Given the description of an element on the screen output the (x, y) to click on. 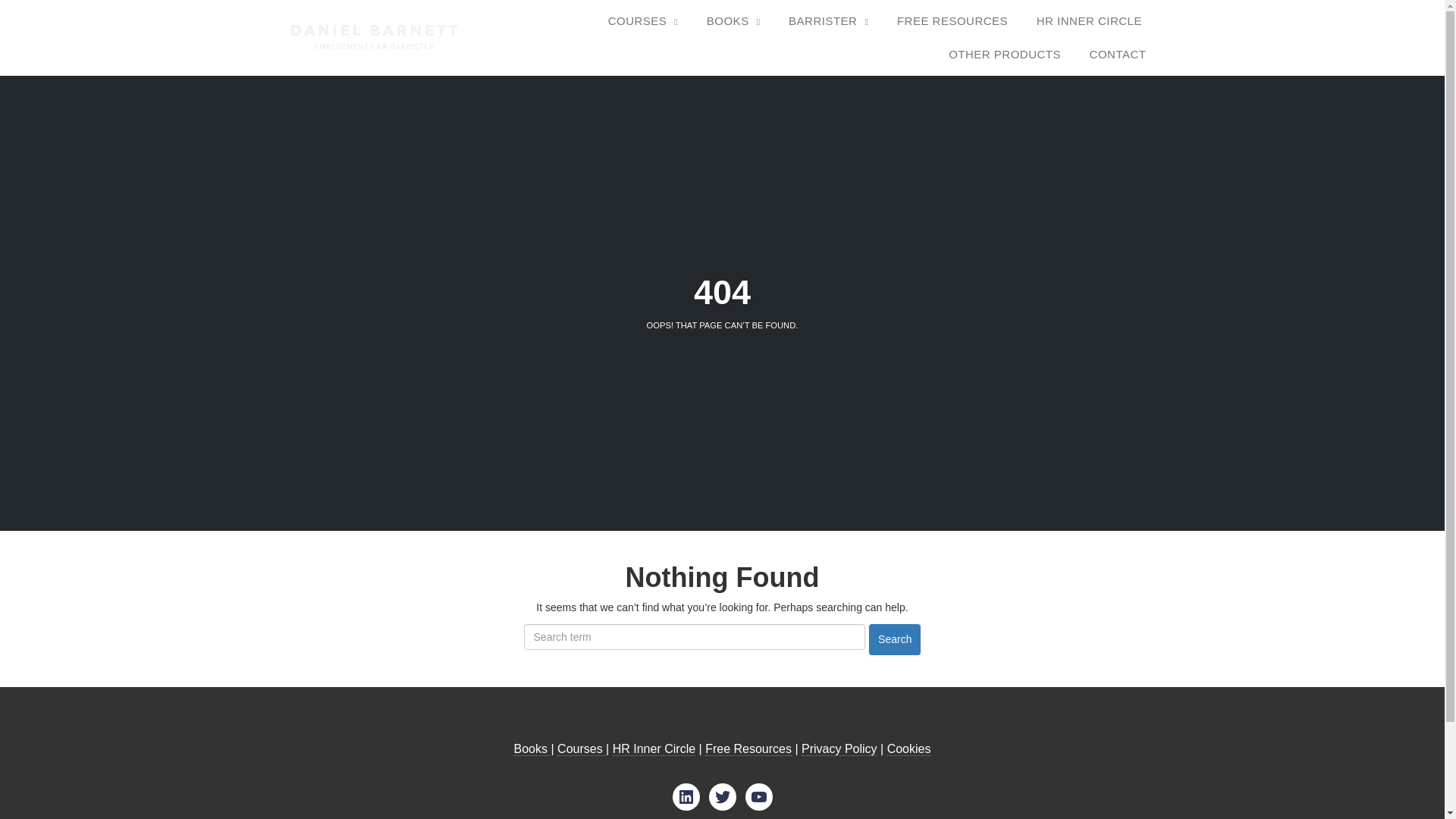
Privacy Policy (839, 748)
HR Inner Circle (653, 748)
BARRISTER (828, 20)
LinkedIn (684, 796)
FREE RESOURCES (952, 20)
Cookies (908, 748)
BOOKS (733, 20)
OTHER PRODUCTS (1004, 54)
YouTube (757, 796)
HR INNER CIRCLE (1088, 20)
